Given the description of an element on the screen output the (x, y) to click on. 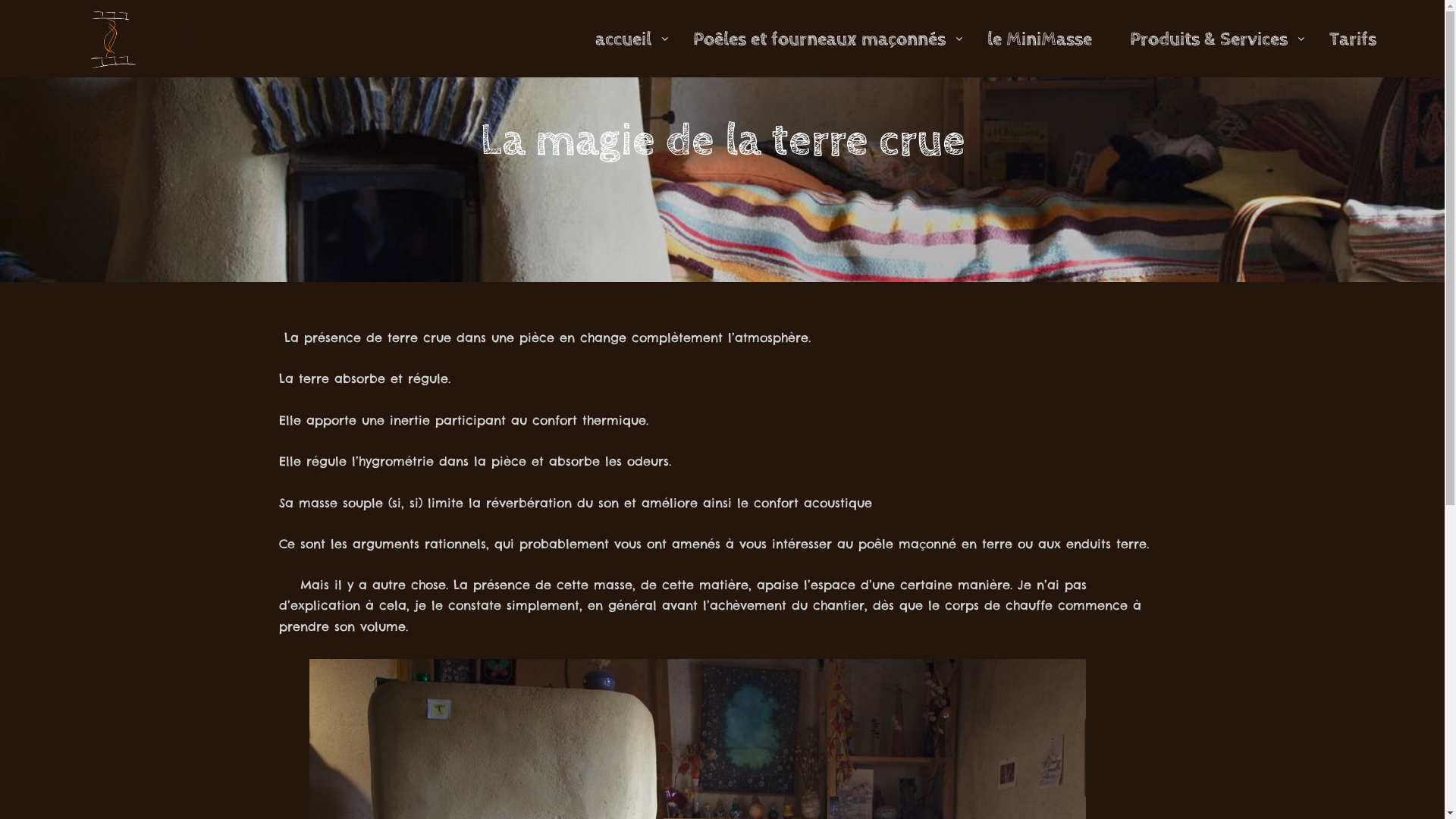
Produits & Services Element type: text (1200, 38)
accueil Element type: text (615, 38)
le-feu.bzh Element type: hover (113, 38)
le MiniMasse Element type: text (1039, 38)
Tarifs Element type: text (1352, 38)
